Given the description of an element on the screen output the (x, y) to click on. 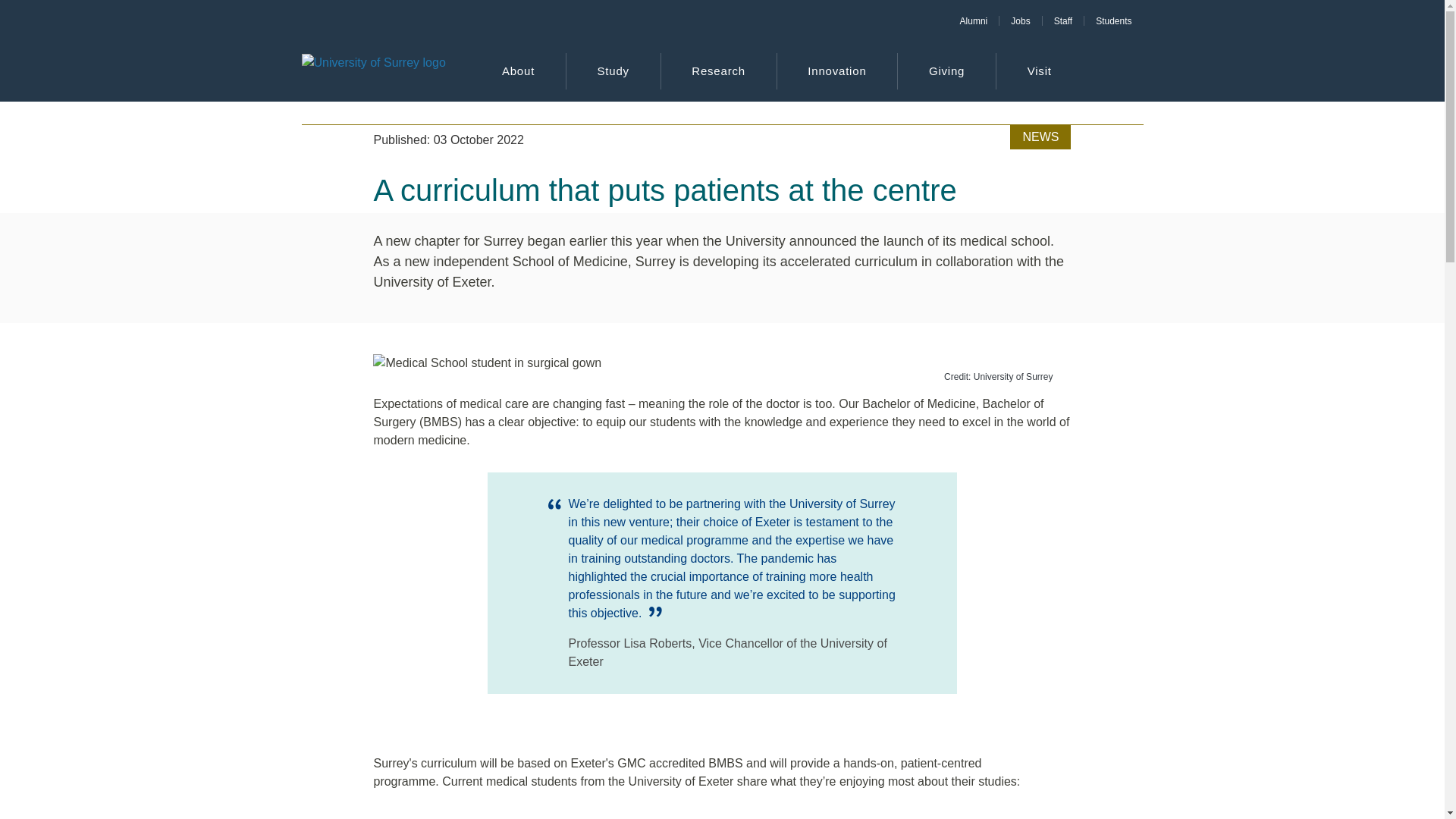
Home (373, 71)
Staff (1062, 20)
Jobs (1019, 20)
About (518, 71)
Alumni (973, 20)
Students (1113, 20)
